Given the description of an element on the screen output the (x, y) to click on. 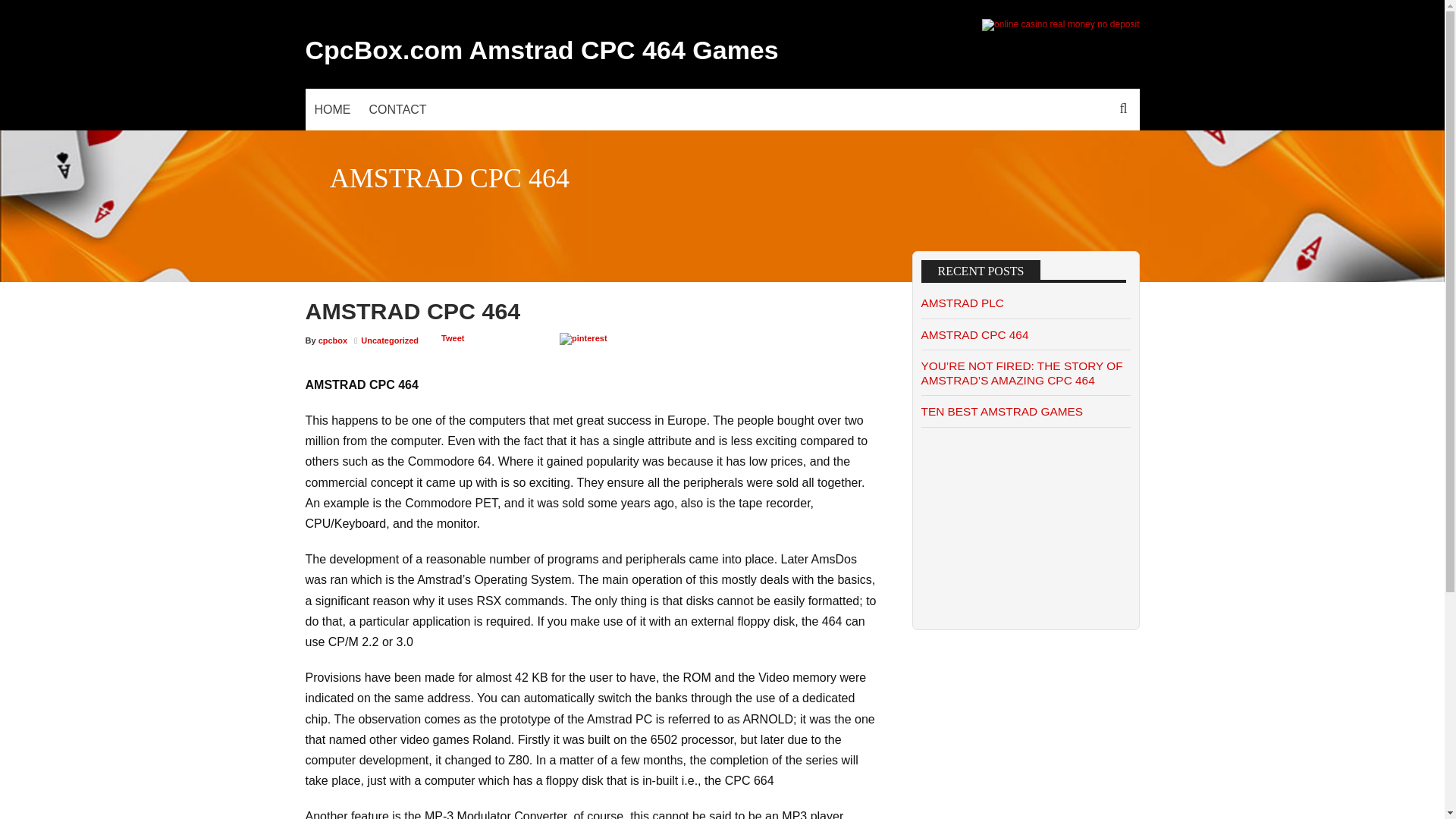
AMSTRAD CPC 464 (973, 334)
CpcBox.com Amstrad CPC 464 Games (540, 50)
Tweet (452, 338)
TEN BEST AMSTRAD GAMES (1001, 410)
online casino real money no deposit (1059, 24)
cpcbox (332, 339)
AMSTRAD PLC (961, 302)
HOME (331, 109)
Posts by cpcbox (332, 339)
Uncategorized (390, 339)
